Given the description of an element on the screen output the (x, y) to click on. 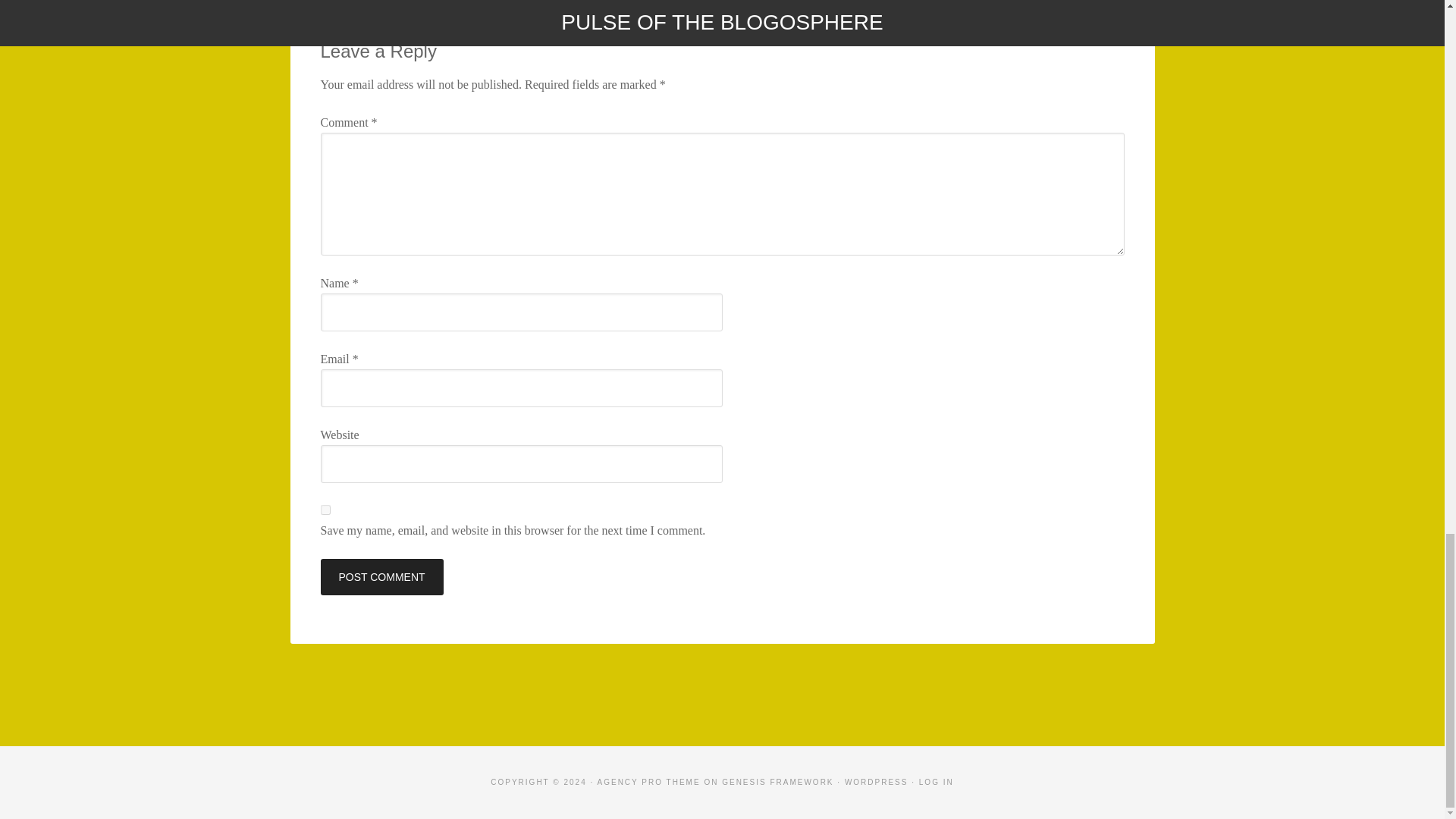
AGENCY PRO THEME (648, 782)
GENESIS FRAMEWORK (777, 782)
Post Comment (381, 576)
LOG IN (935, 782)
Post Comment (381, 576)
WORDPRESS (876, 782)
yes (325, 510)
